Given the description of an element on the screen output the (x, y) to click on. 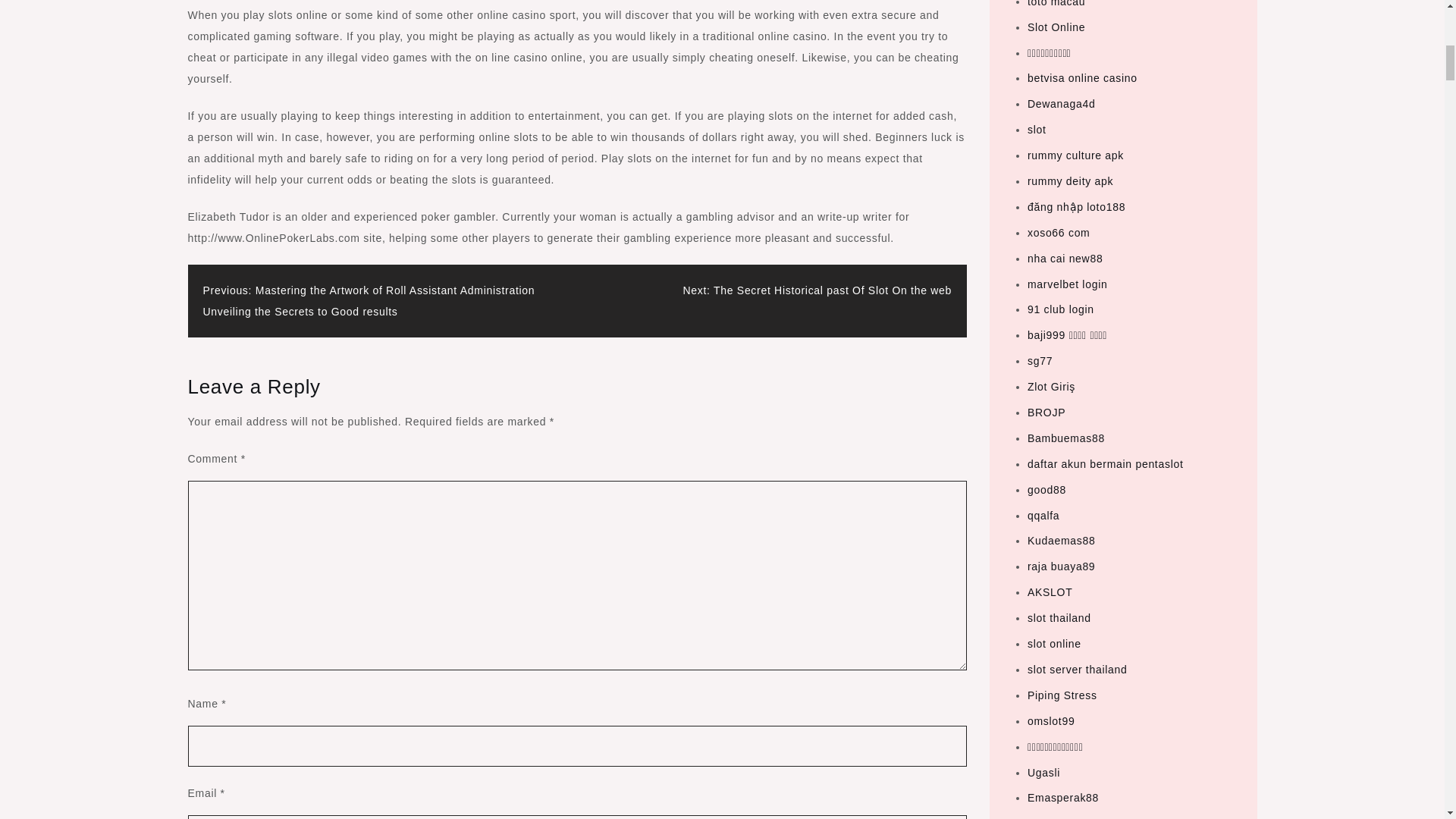
marvelbet login (1066, 284)
Next: The Secret Historical past Of Slot On the web (817, 290)
rummy deity apk (1070, 181)
91 club login (1060, 309)
xoso66 com (1058, 232)
Slot Online (1055, 27)
toto macau (1055, 3)
nha cai new88 (1064, 258)
betvisa online casino (1082, 78)
slot (1036, 129)
Dewanaga4d (1061, 103)
rummy culture apk (1075, 155)
